Given the description of an element on the screen output the (x, y) to click on. 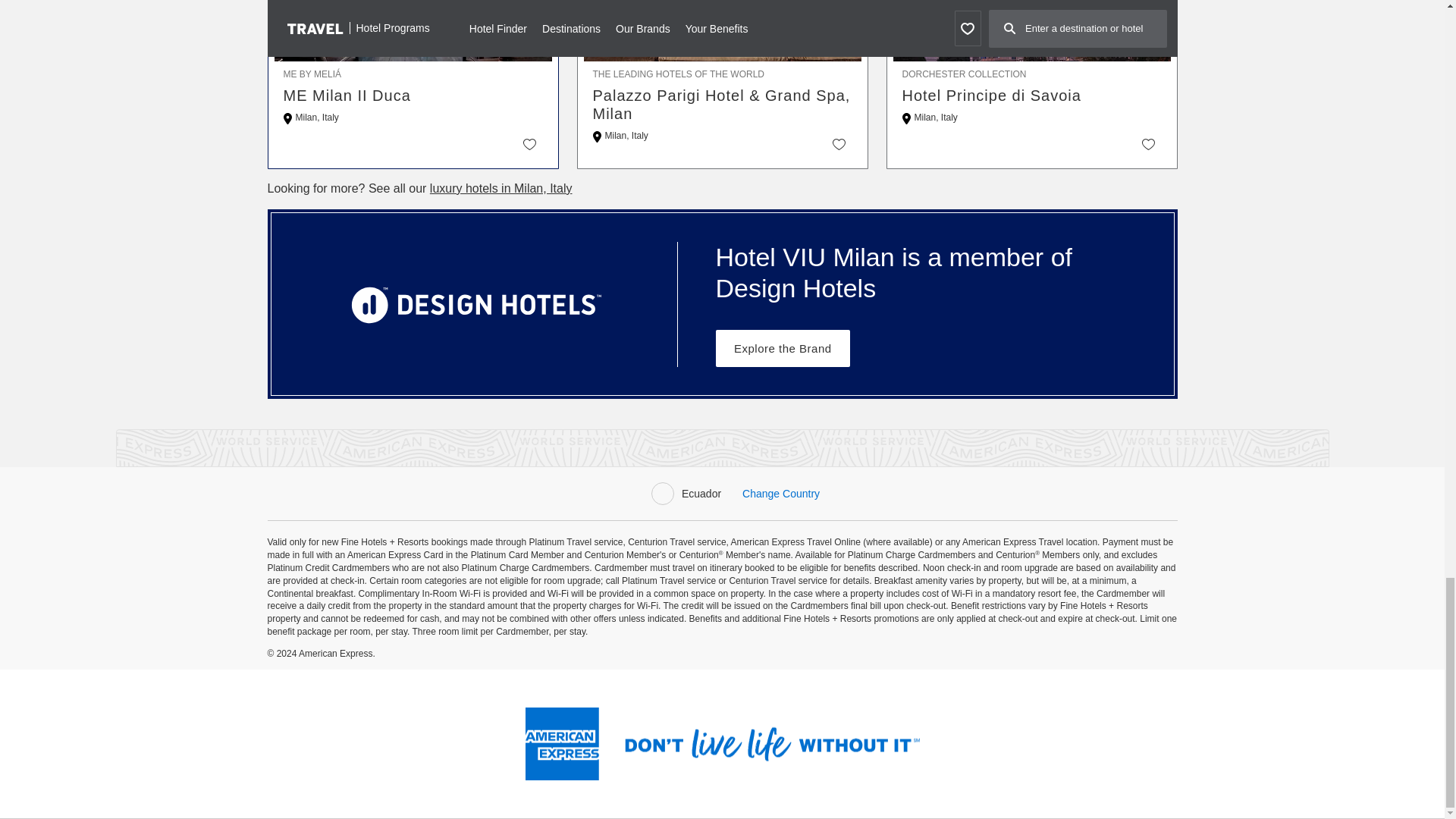
luxury hotels in Milan, Italy (500, 187)
Hotel Principe di Savoia (1031, 95)
Explore the Brand (783, 348)
ME Milan II Duca (413, 95)
Change Country (780, 493)
